Given the description of an element on the screen output the (x, y) to click on. 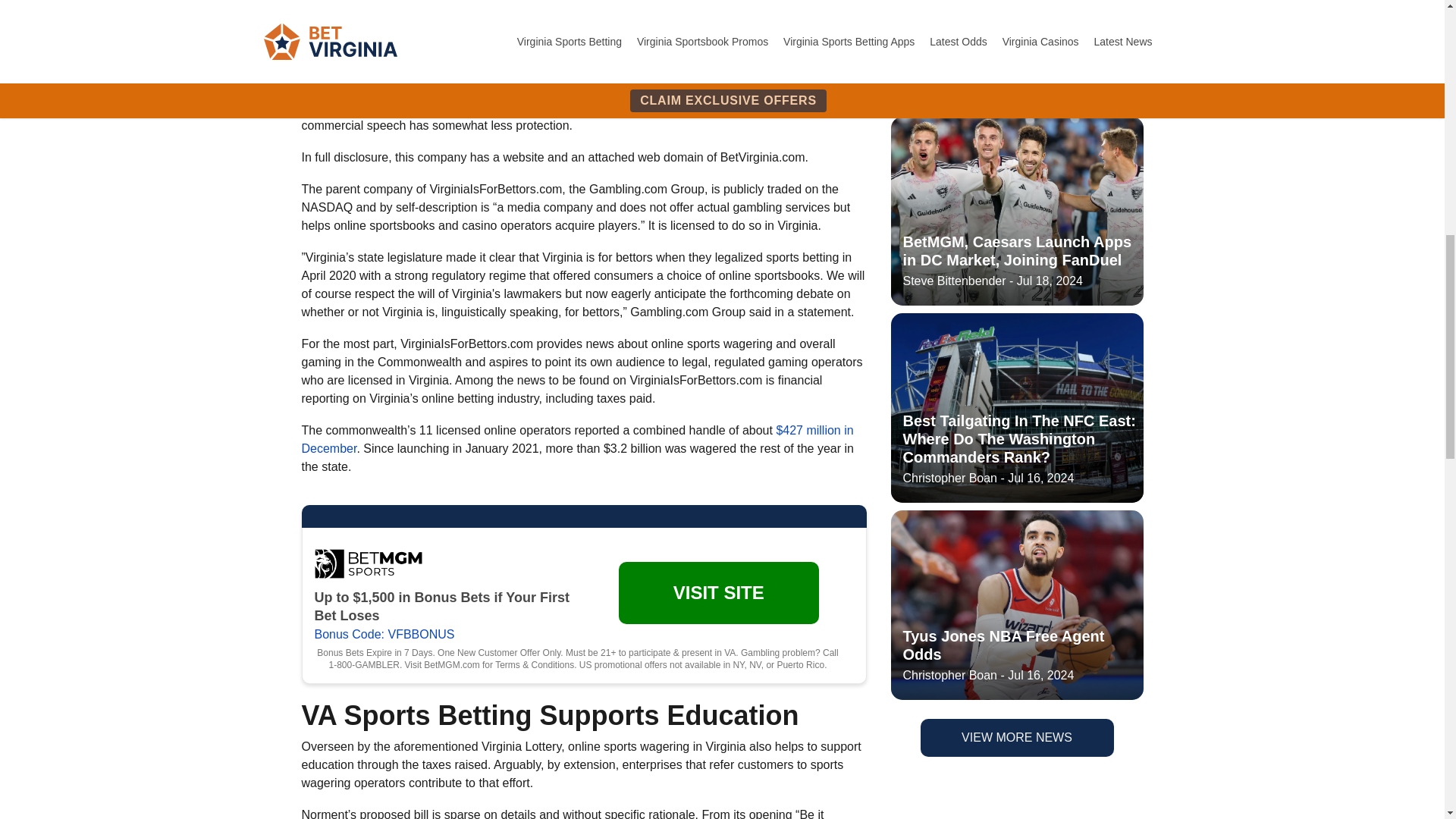
Tyus Jones NBA Free Agent Odds (1015, 72)
BetMGM Sports (368, 563)
